Given the description of an element on the screen output the (x, y) to click on. 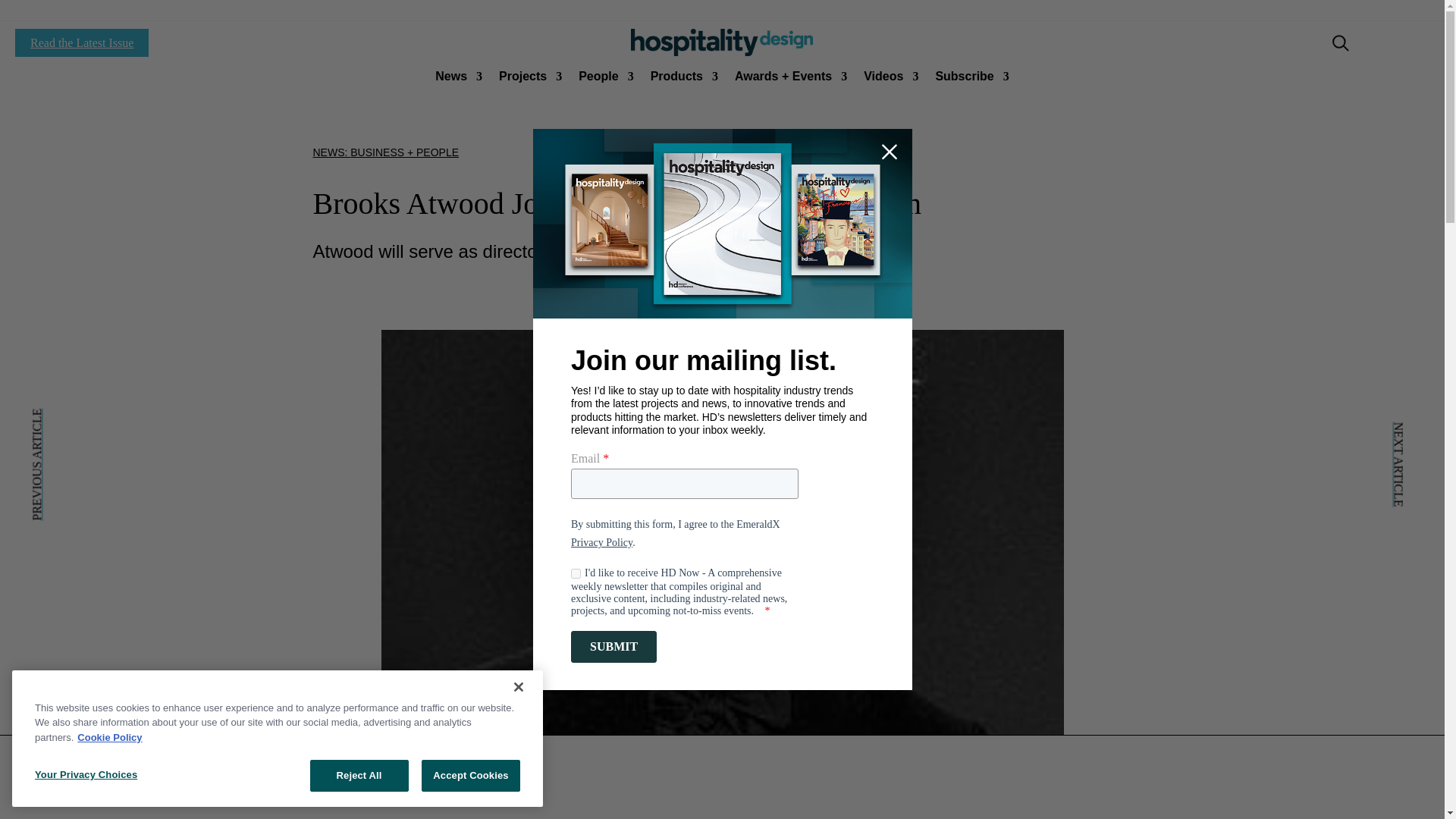
Search IconA magnifying glass icon. (1340, 43)
Projects (530, 79)
Read the Latest Issue (81, 42)
Print (721, 42)
People (605, 79)
News (458, 79)
Products (683, 79)
